Given the description of an element on the screen output the (x, y) to click on. 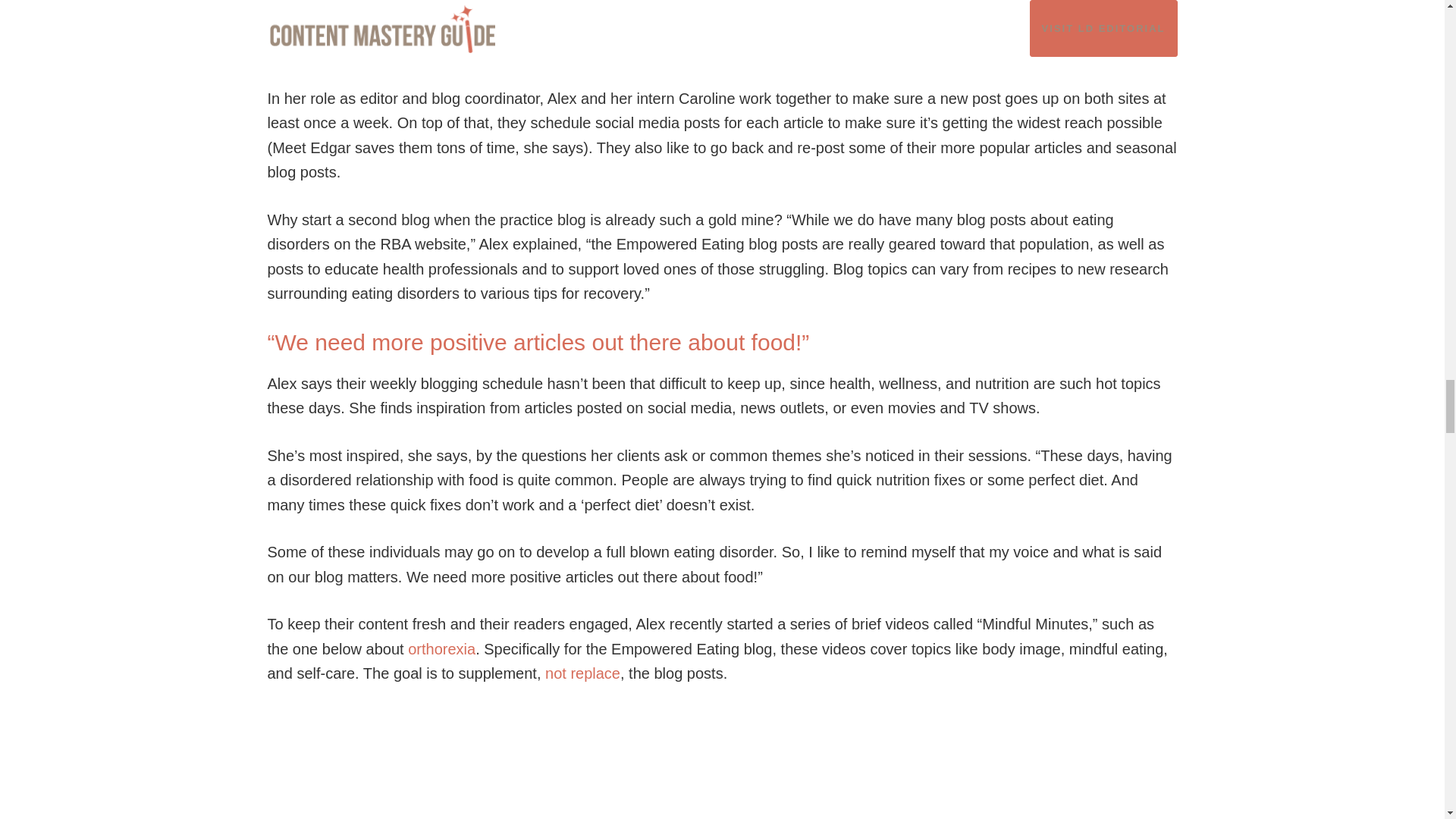
not replace (582, 673)
Empowered Eating (773, 26)
orthorexia (441, 648)
